Given the description of an element on the screen output the (x, y) to click on. 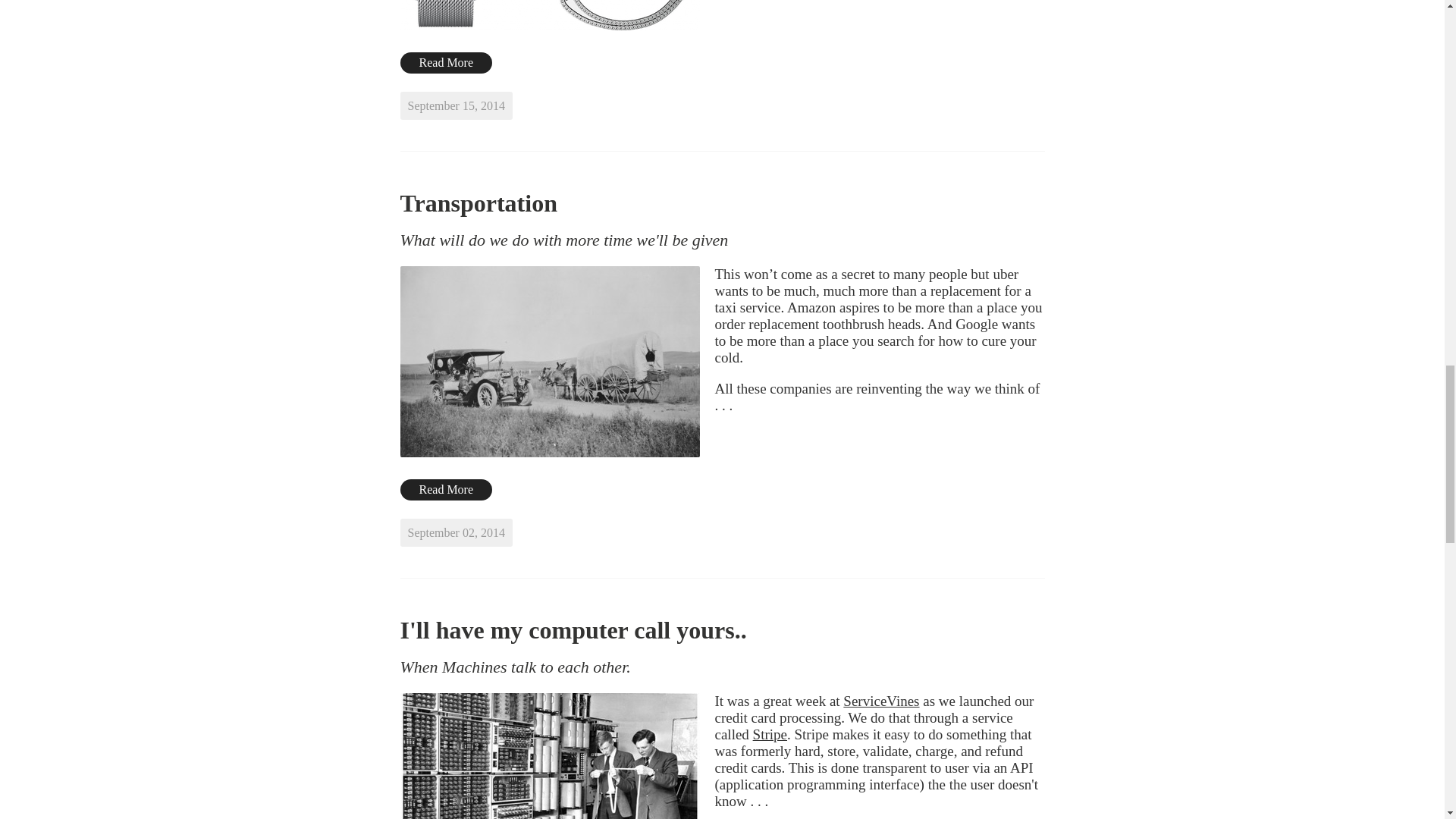
Read More (446, 489)
Read More (446, 62)
Stripe (769, 734)
I'll have my computer call yours.. (573, 629)
ServiceVines (880, 700)
Transportation (478, 203)
